Given the description of an element on the screen output the (x, y) to click on. 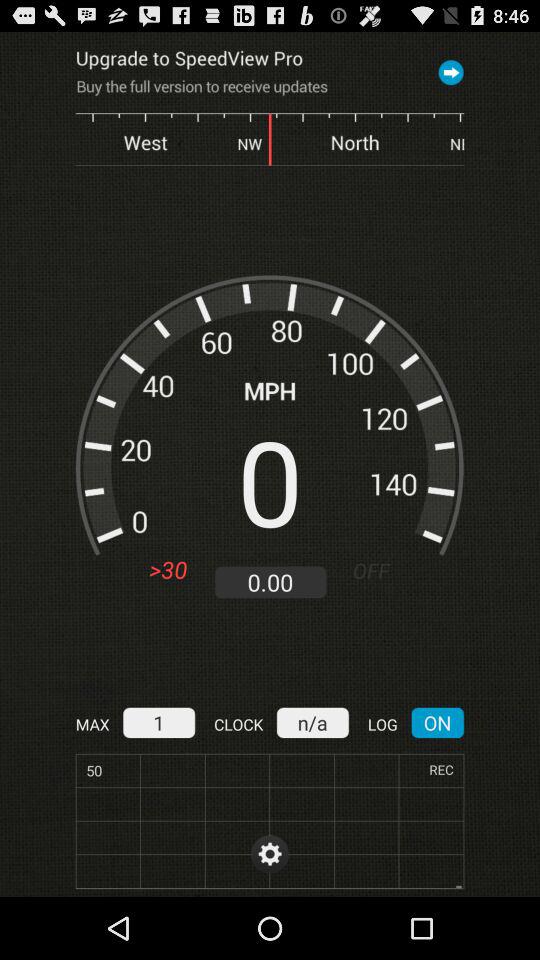
choose item next to clock icon (312, 722)
